Given the description of an element on the screen output the (x, y) to click on. 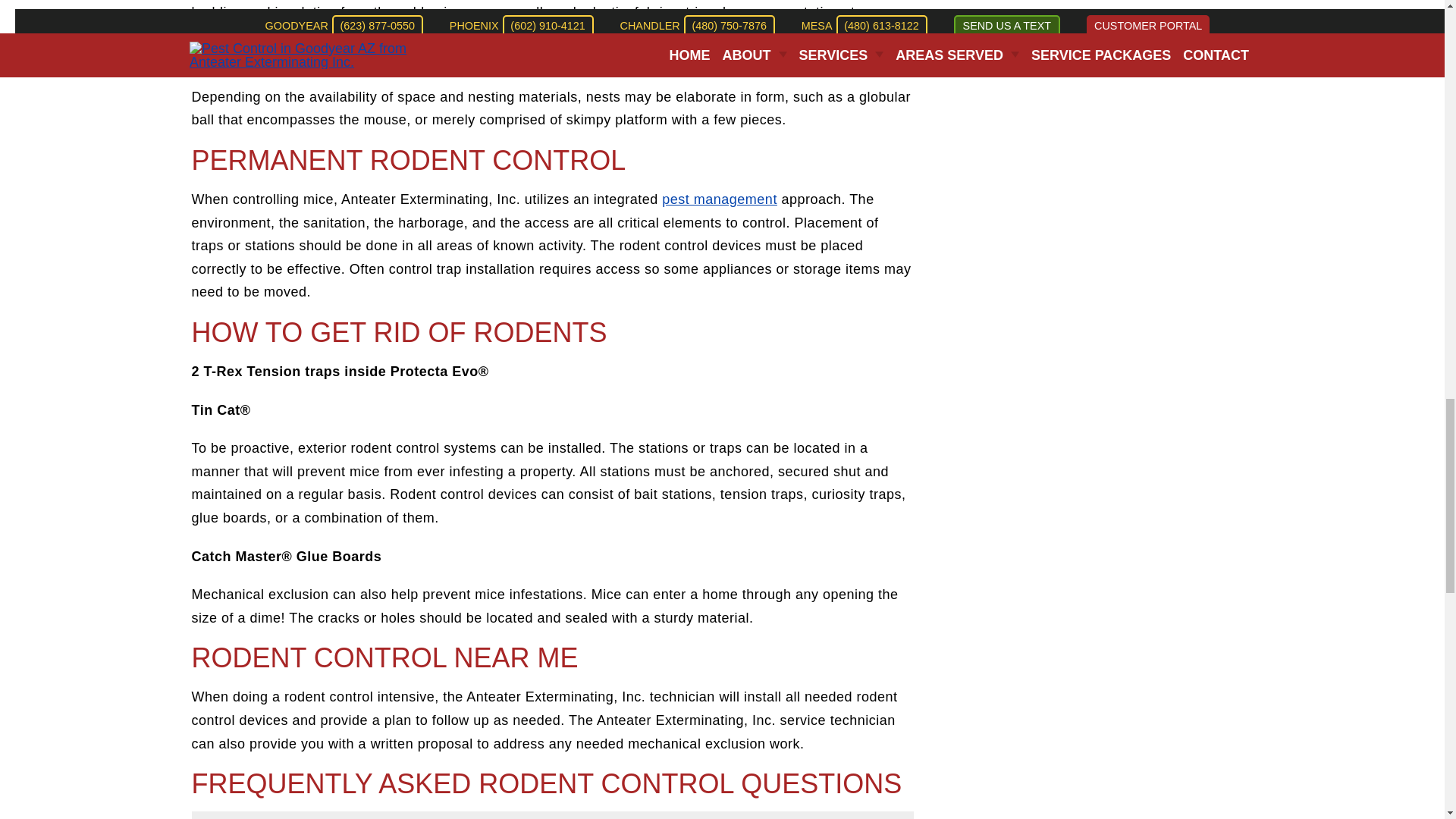
Link To Exterminator Scottsdale (719, 199)
